Given the description of an element on the screen output the (x, y) to click on. 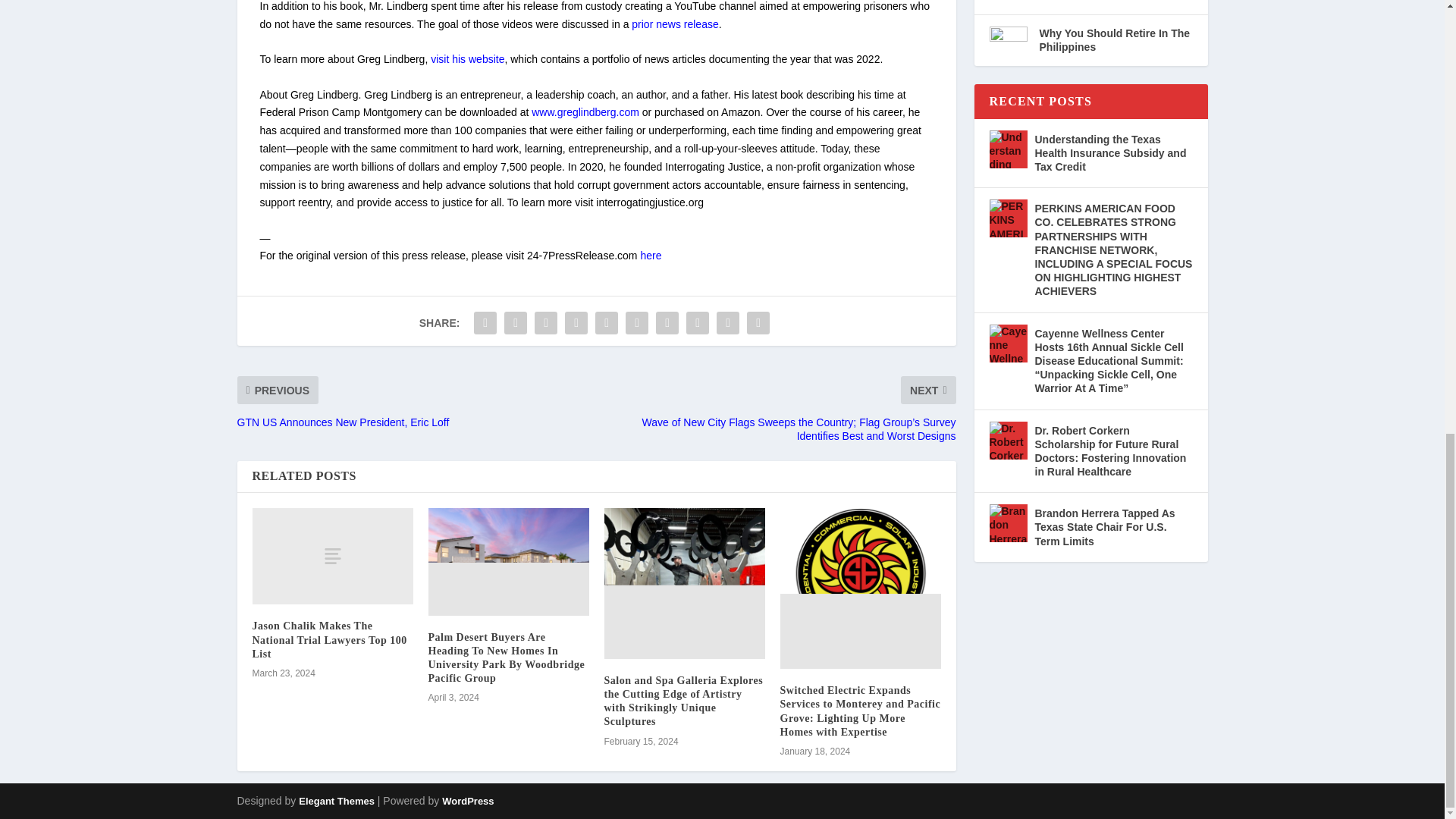
Jason Chalik Makes The National Trial Lawyers Top 100 List (331, 555)
Jason Chalik Makes The National Trial Lawyers Top 100 List (328, 639)
www.greglindberg.com (585, 111)
here (650, 255)
visit his website (466, 59)
